Given the description of an element on the screen output the (x, y) to click on. 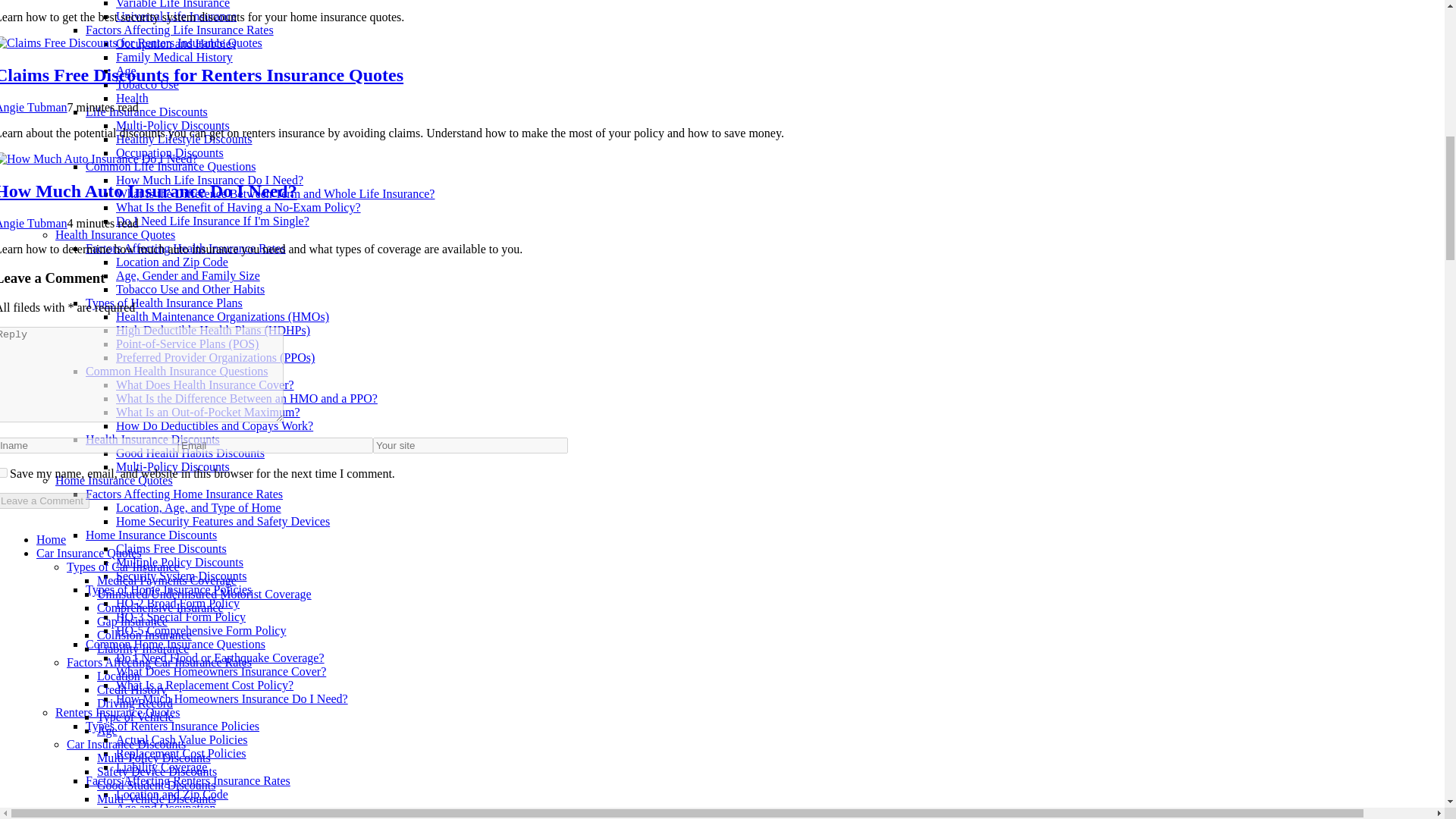
Leave a Comment (44, 500)
Posts by Angie Tubman (33, 223)
Posts by Angie Tubman (33, 106)
